Given the description of an element on the screen output the (x, y) to click on. 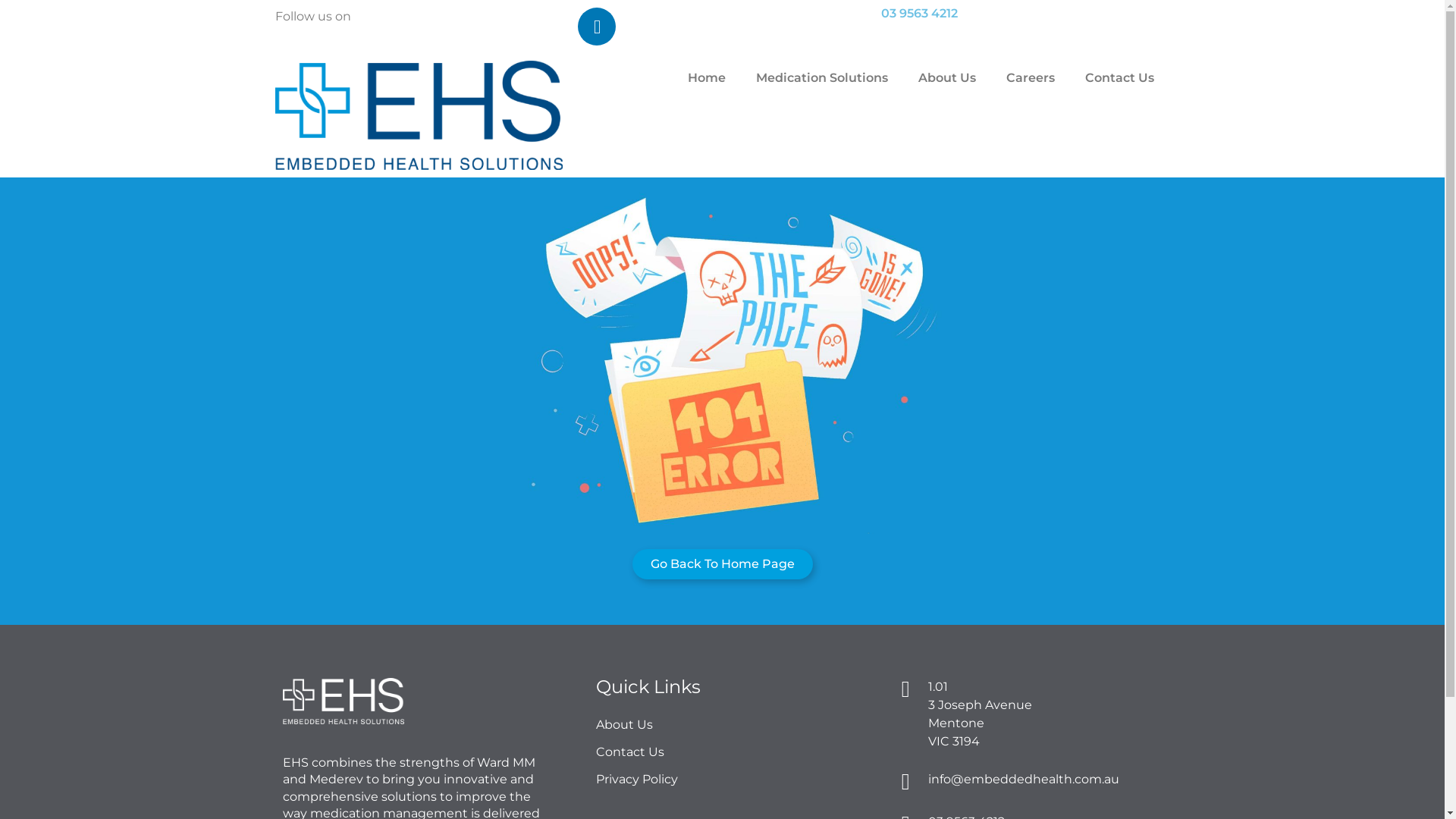
info@embeddedhealth.com.au Element type: text (1023, 778)
Go Back To Home Page Element type: text (722, 564)
03 9563 4212 Element type: text (919, 13)
Contact Us Element type: text (1119, 77)
Careers Element type: text (1030, 77)
About Us Element type: text (729, 724)
About Us Element type: text (947, 77)
Medication Solutions Element type: text (821, 77)
Contact Us Element type: text (729, 751)
Home Element type: text (706, 77)
Privacy Policy Element type: text (729, 779)
